Given the description of an element on the screen output the (x, y) to click on. 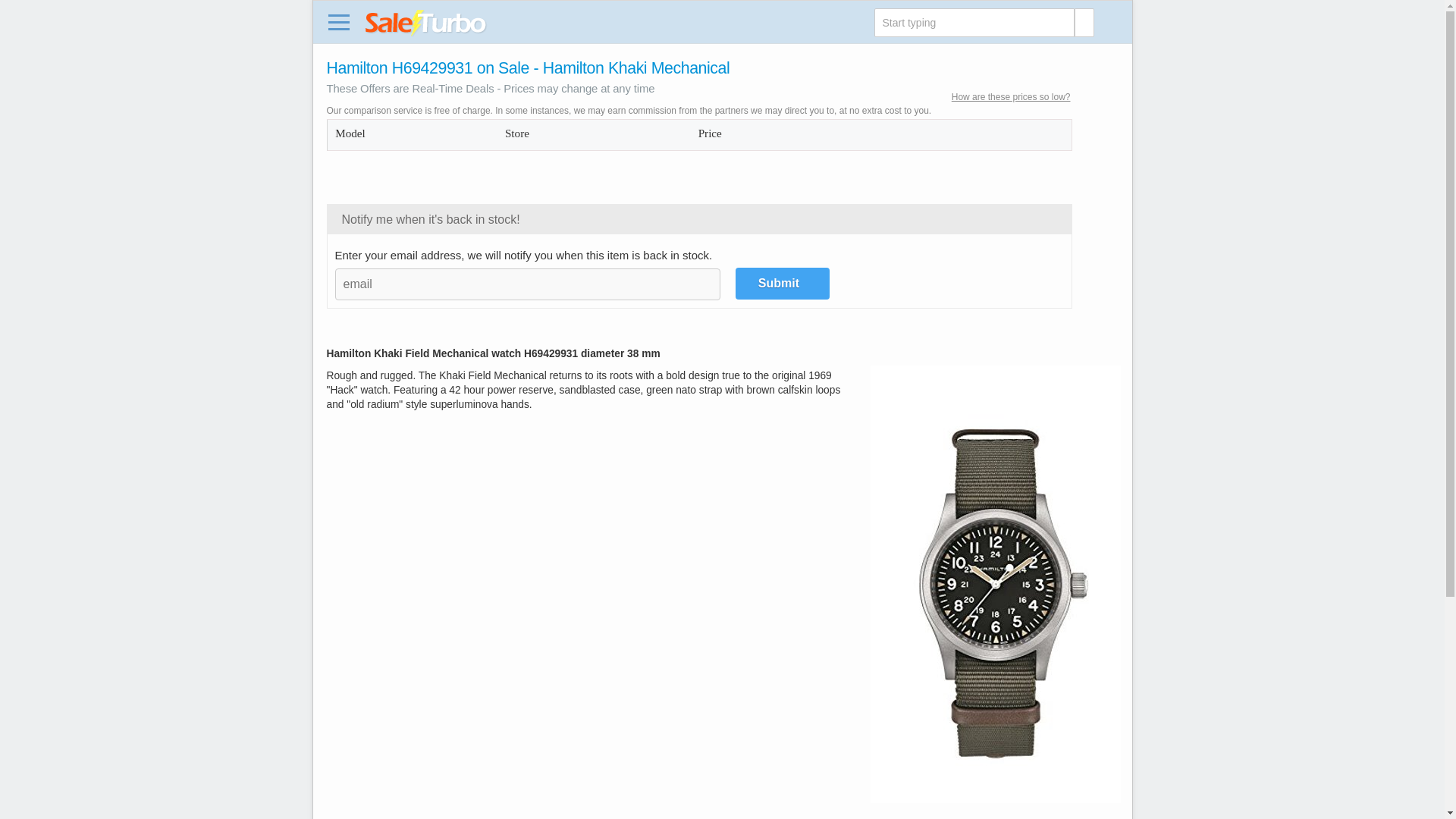
2 characters minimum (973, 22)
